Given the description of an element on the screen output the (x, y) to click on. 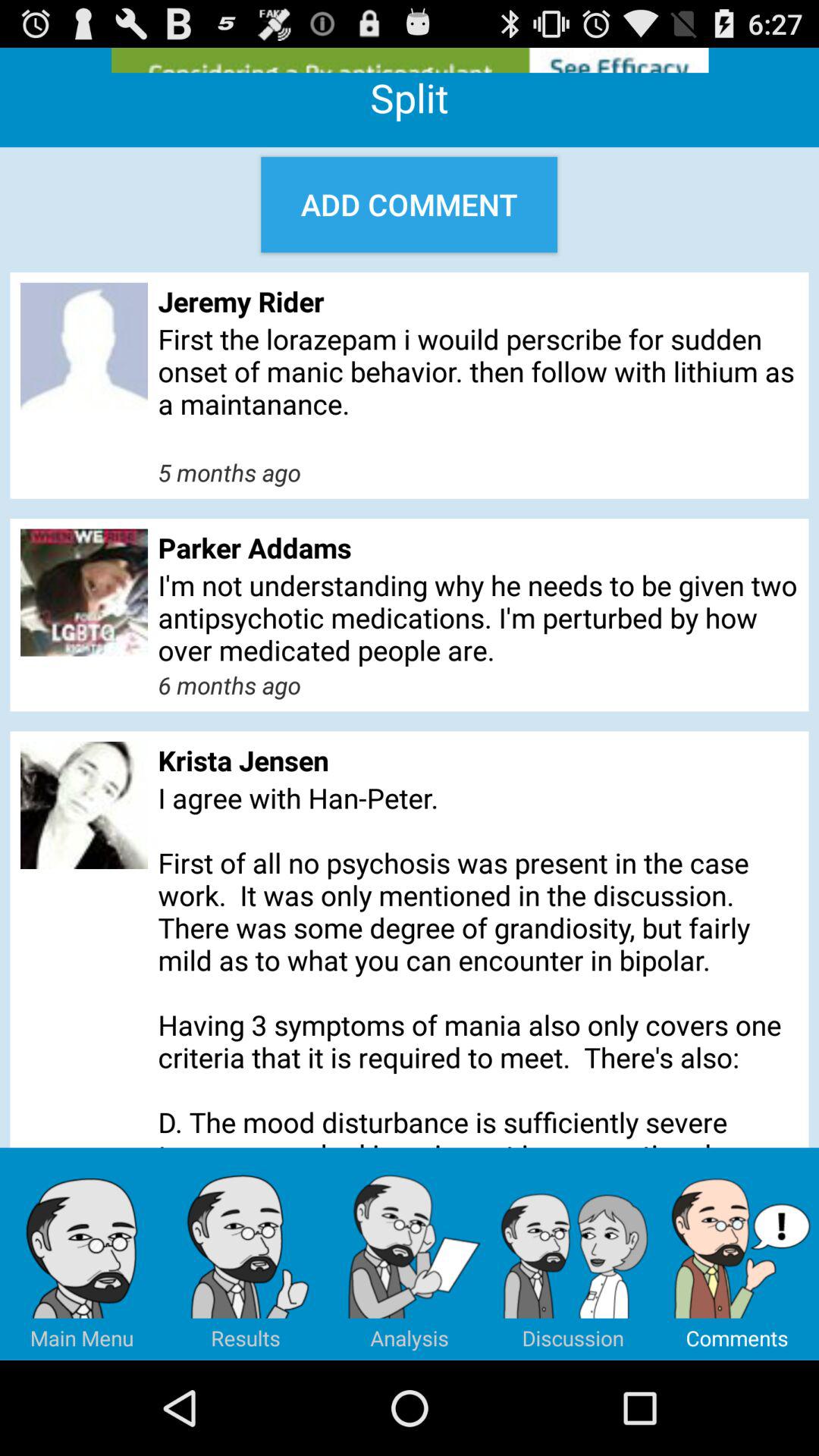
turn off the i m not app (478, 617)
